Given the description of an element on the screen output the (x, y) to click on. 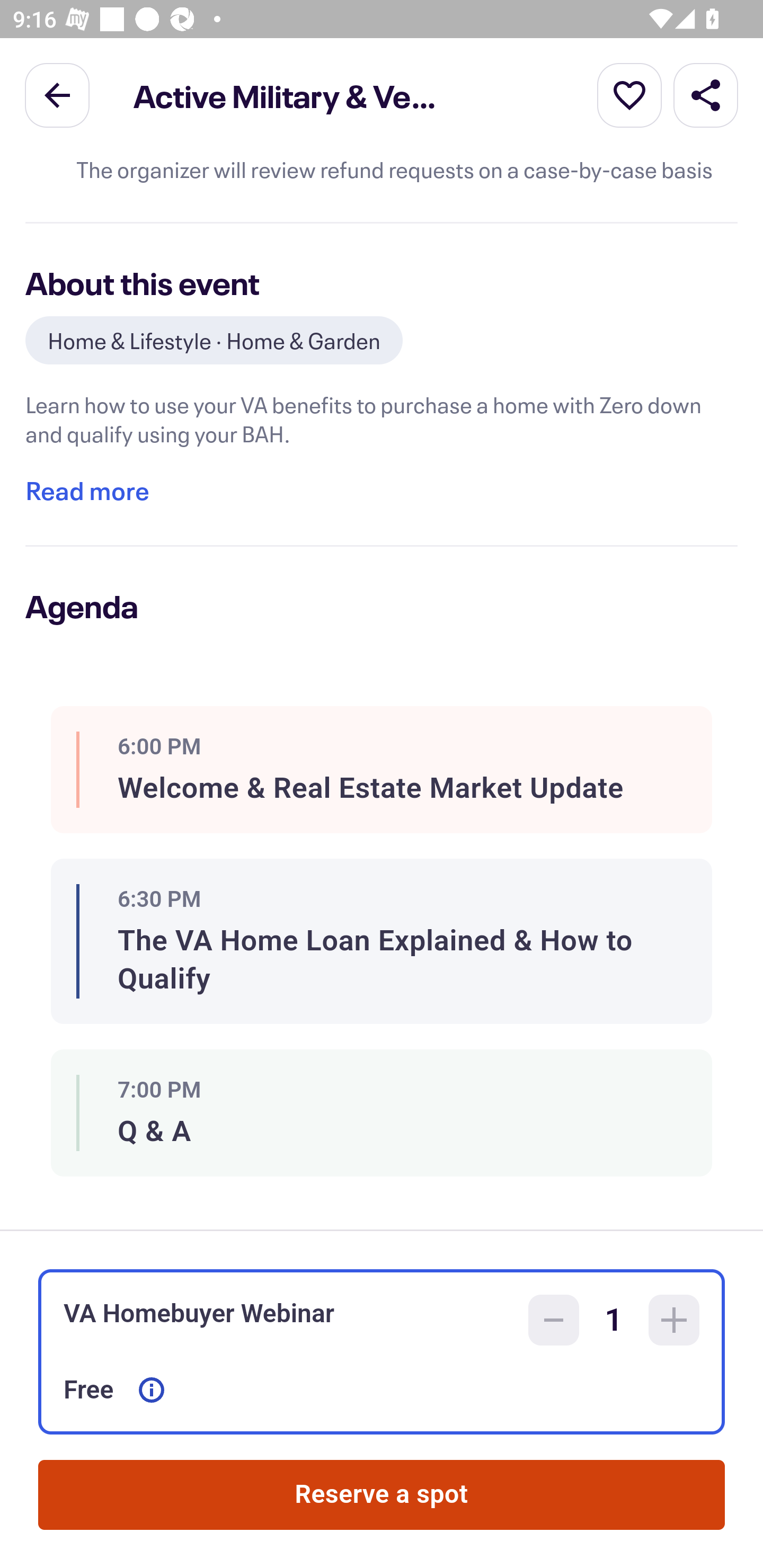
Back (57, 94)
More (629, 94)
Share (705, 94)
Read more (87, 490)
Decrease (553, 1320)
Increase (673, 1320)
Show more information (151, 1389)
Reserve a spot (381, 1494)
